Given the description of an element on the screen output the (x, y) to click on. 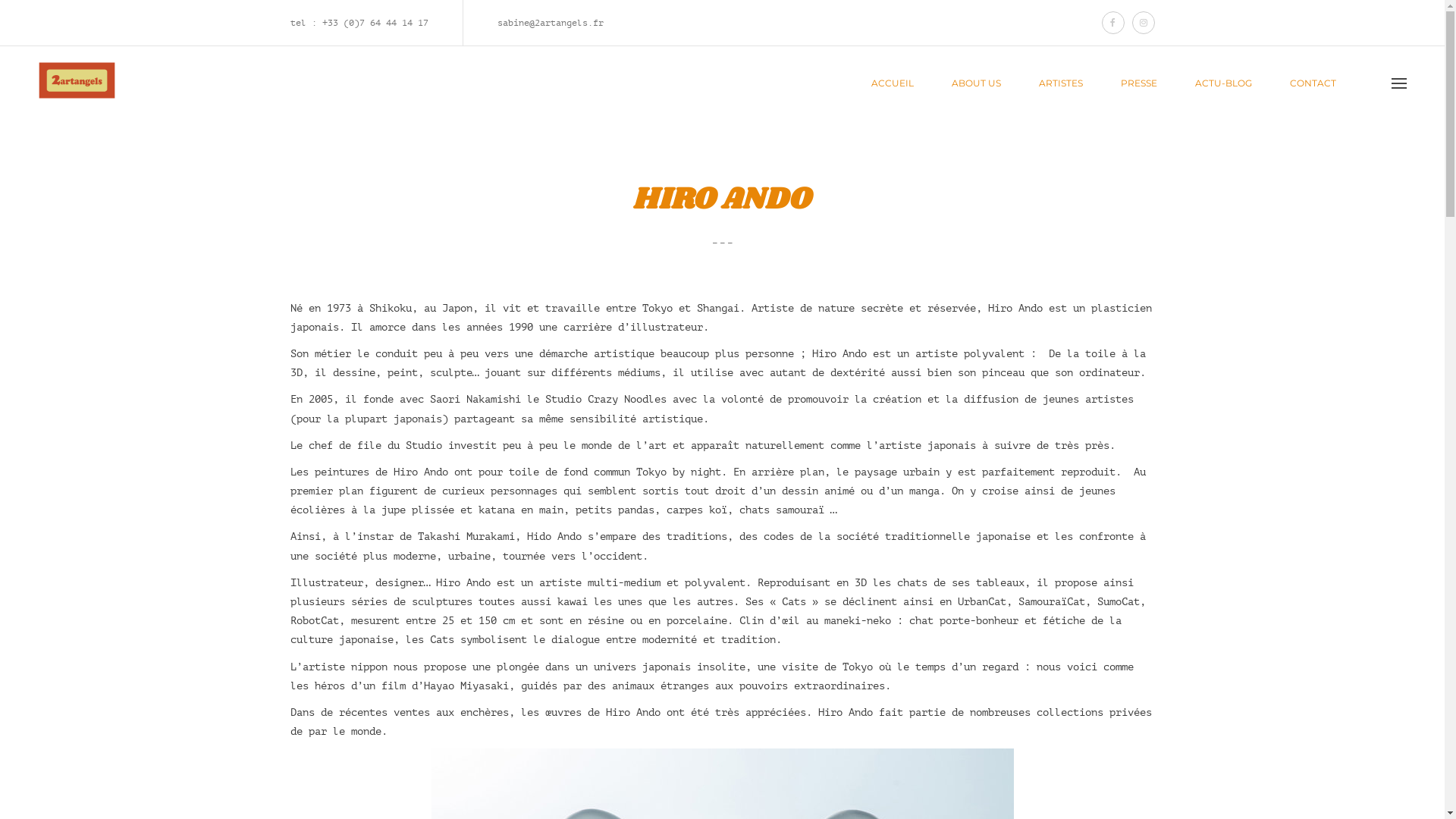
PRESSE Element type: text (1138, 83)
ACTU-BLOG Element type: text (1223, 83)
sabine@2artangels.fr Element type: text (550, 22)
CONTACT Element type: text (1312, 83)
ARTISTES Element type: text (1060, 83)
ABOUT US Element type: text (976, 83)
tel : +33 (0)7 64 44 14 17 Element type: text (358, 22)
ACCUEIL Element type: text (892, 83)
